Given the description of an element on the screen output the (x, y) to click on. 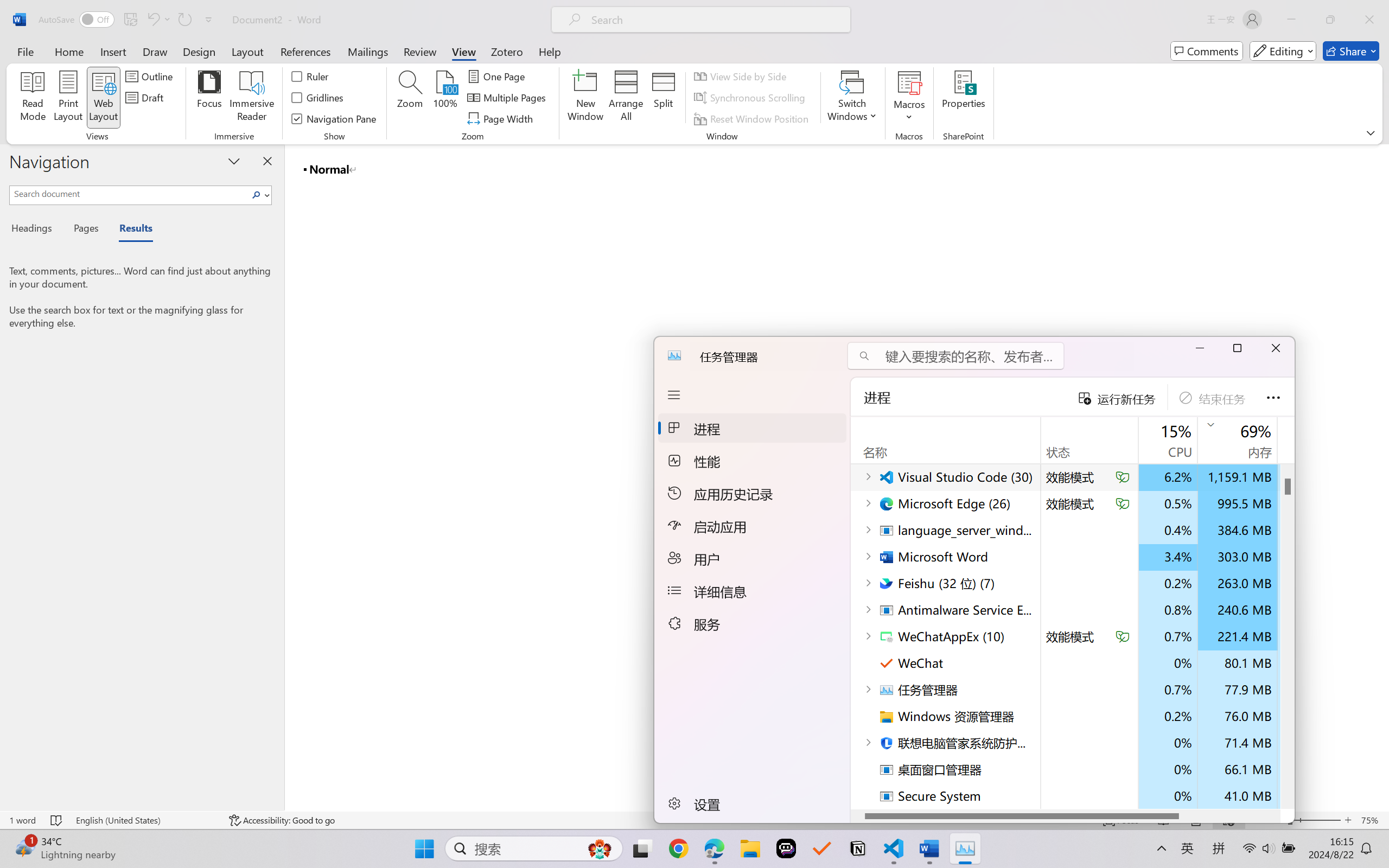
Arrange All (625, 97)
Outline (150, 75)
Navigation Pane (334, 118)
